Given the description of an element on the screen output the (x, y) to click on. 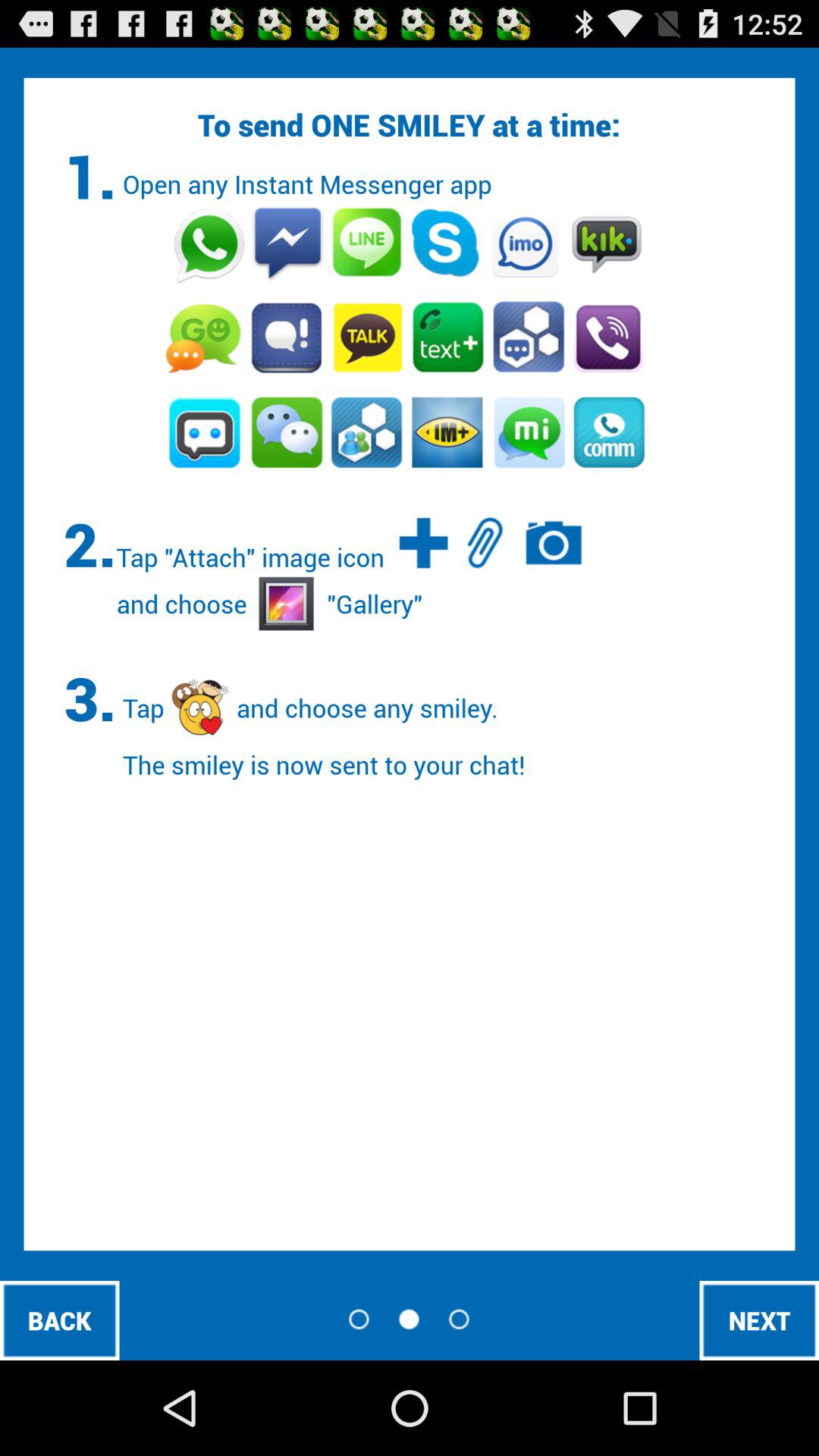
turn on back at the bottom left corner (59, 1320)
